Given the description of an element on the screen output the (x, y) to click on. 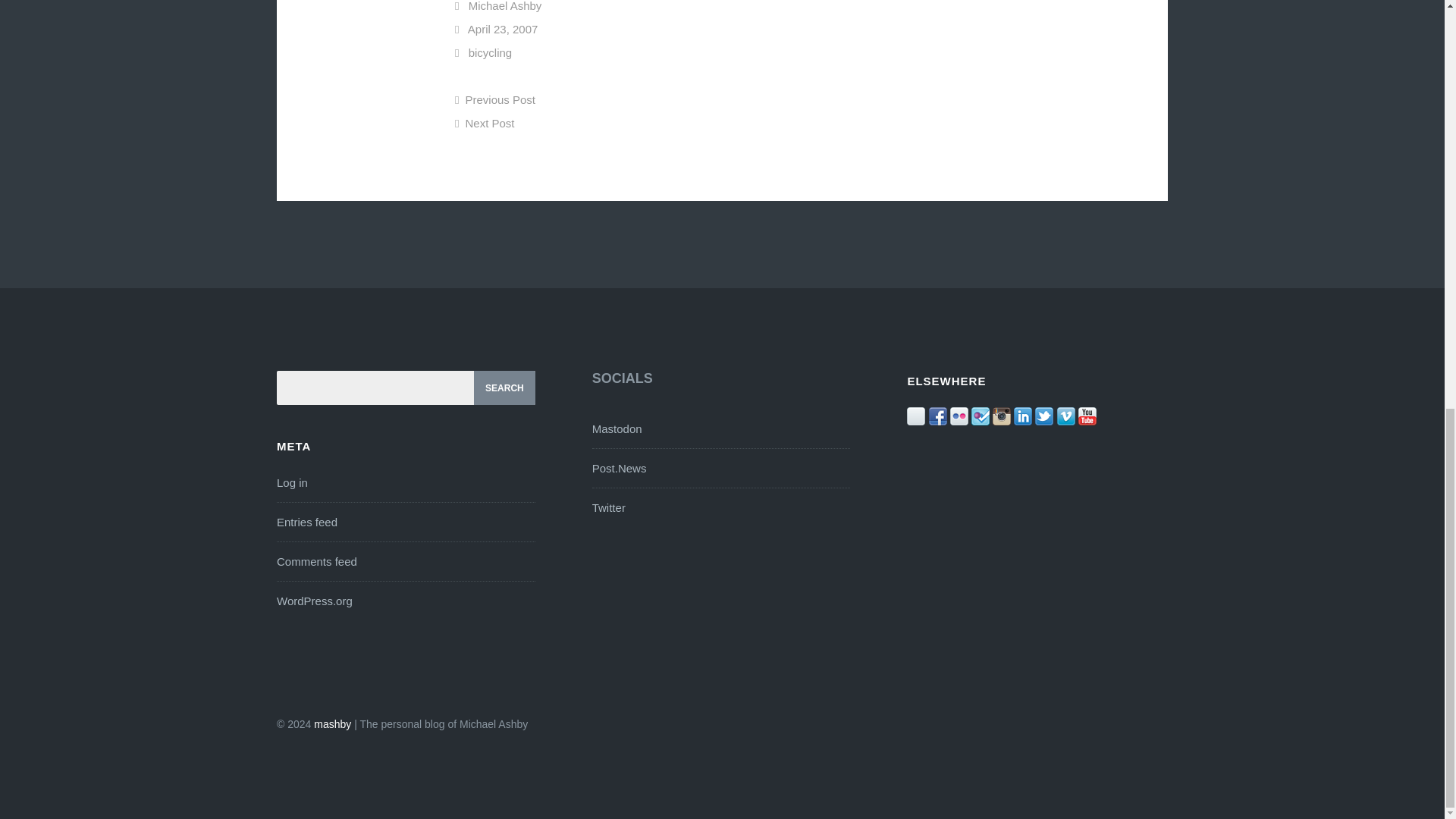
Twitter (609, 507)
Comments feed (316, 561)
Search (504, 387)
Search (504, 387)
bicycling (490, 51)
Post.News (619, 468)
Log in (291, 481)
Entries feed (306, 521)
mashby (332, 724)
Mastodon (617, 428)
